Given the description of an element on the screen output the (x, y) to click on. 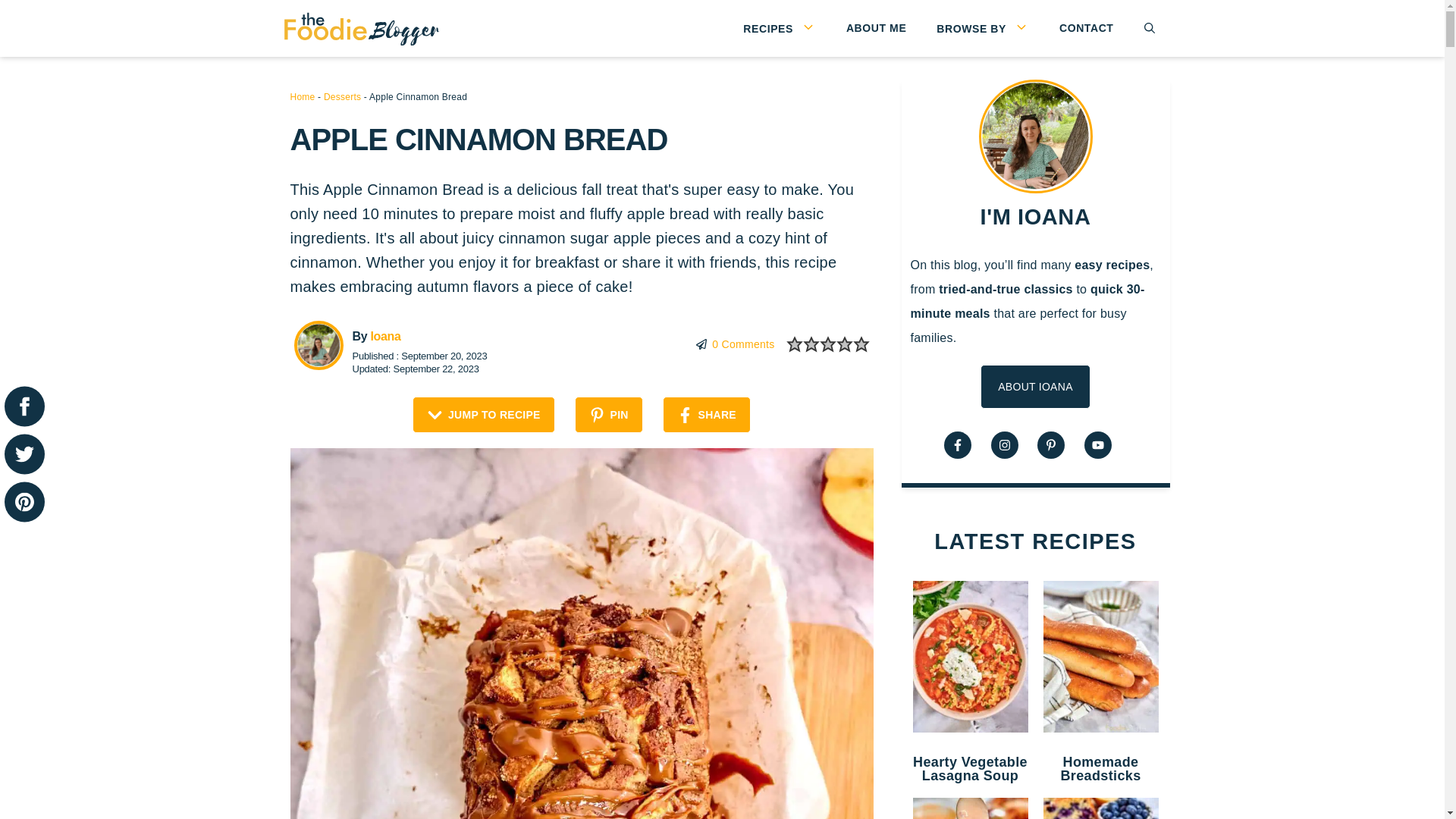
ABOUT ME (876, 28)
ioana-author (318, 345)
BROWSE BY (982, 28)
RECIPES (779, 28)
